Given the description of an element on the screen output the (x, y) to click on. 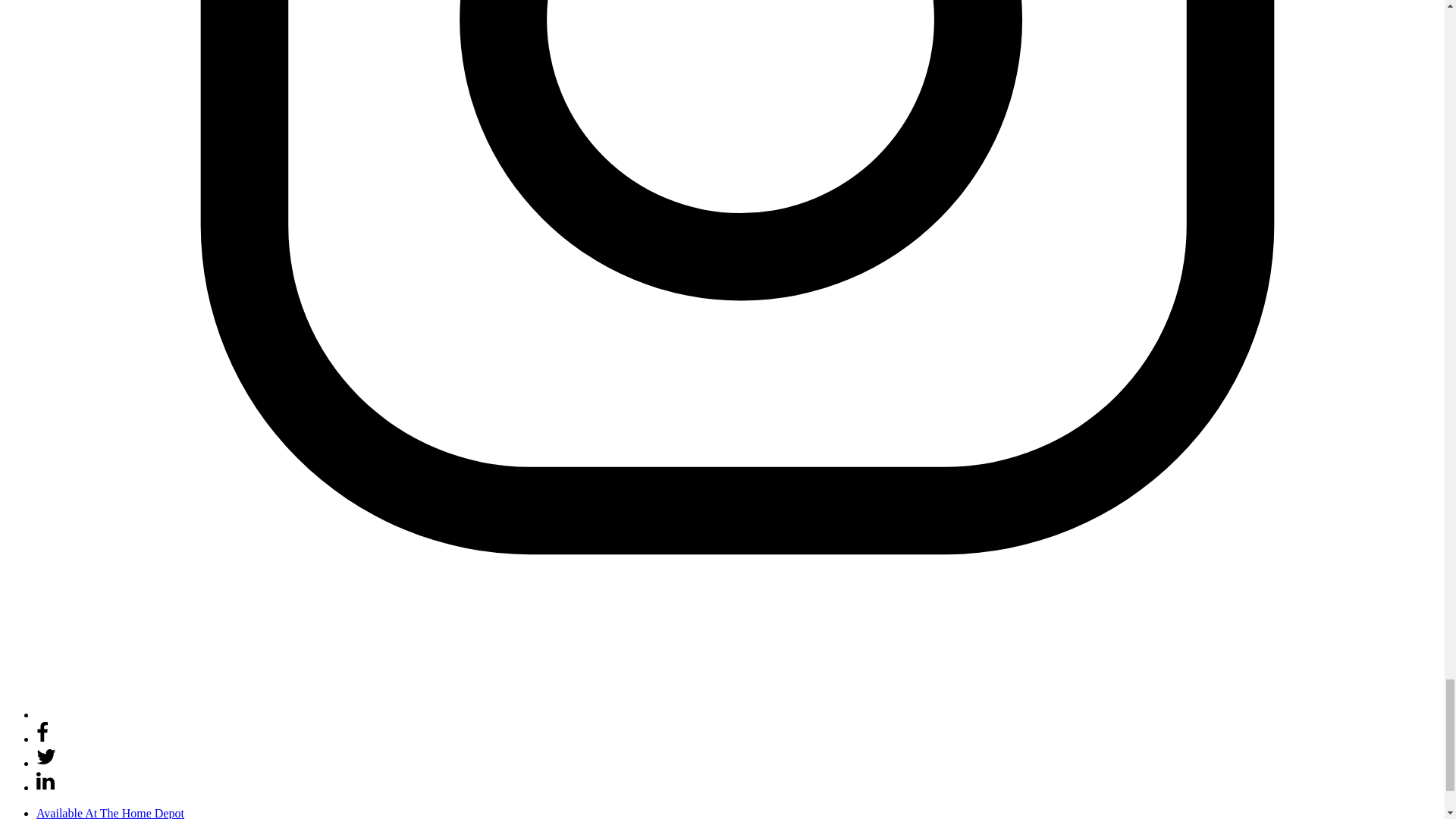
twitter (46, 756)
Available At The Home Depot (110, 812)
linkedin (45, 787)
facebook (42, 738)
twitter (46, 762)
